Given the description of an element on the screen output the (x, y) to click on. 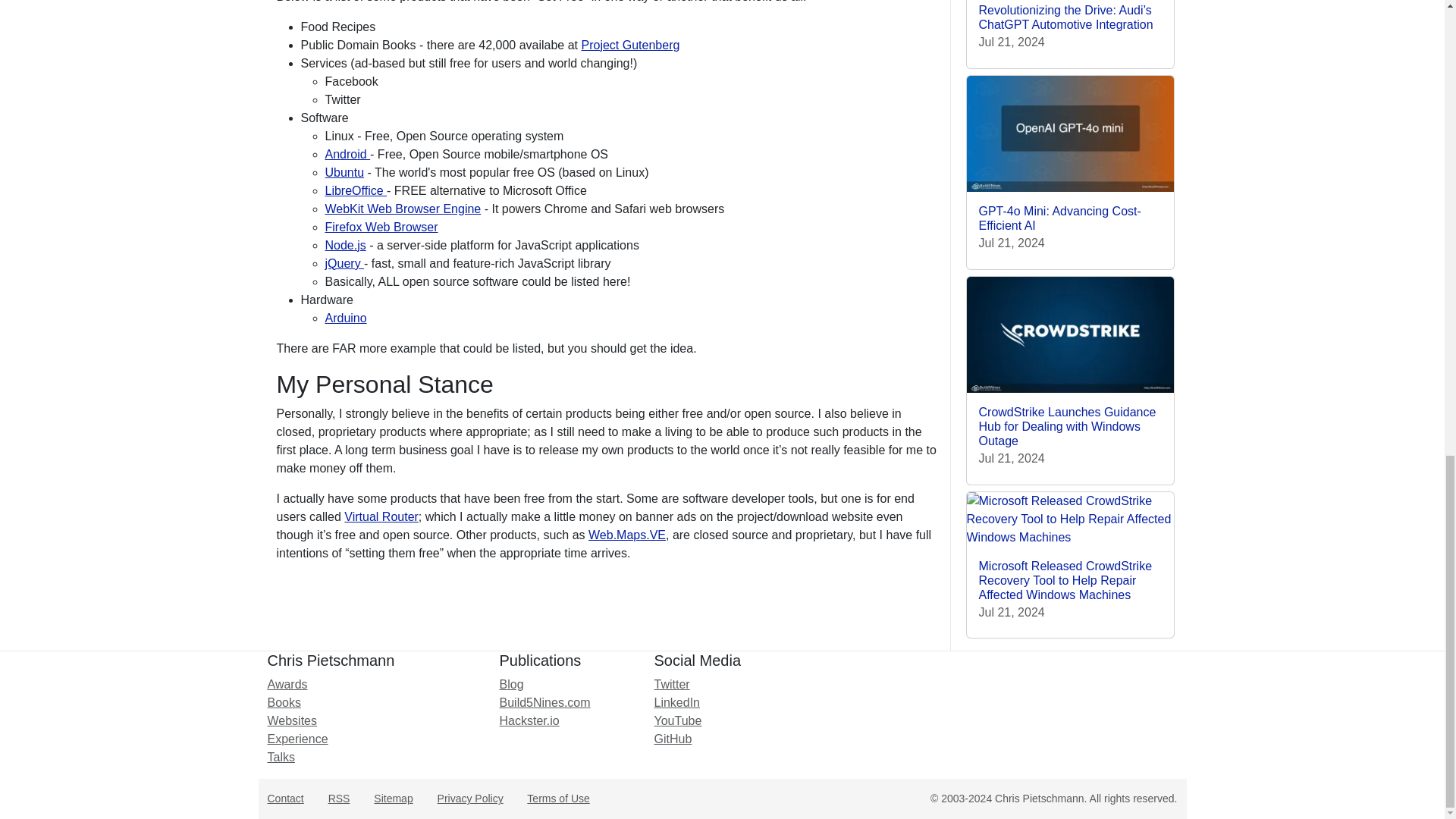
Project Gutenberg (629, 44)
Node.js (344, 245)
Android (346, 154)
Arduino (345, 318)
WebKit Web Browser Engine (402, 208)
Firefox Web Browser (381, 226)
GPT-4o Mini: Advancing Cost-Efficient AI (1059, 217)
LibreOffice (355, 190)
Awards (286, 684)
Virtual Router (381, 516)
Websites (291, 720)
jQuery (344, 263)
Books (282, 702)
